Given the description of an element on the screen output the (x, y) to click on. 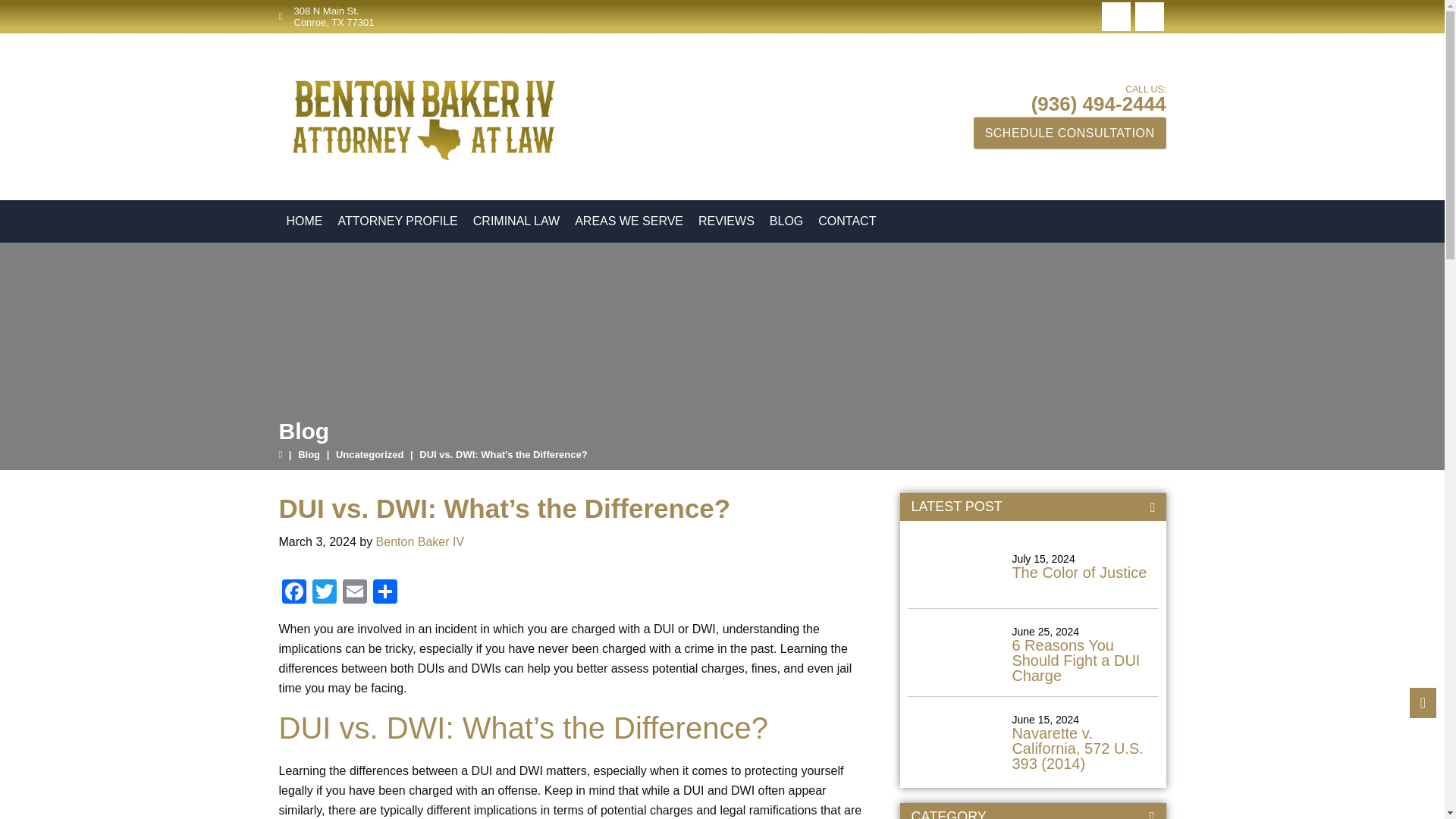
ATTORNEY PROFILE (397, 221)
Email (354, 593)
Benton Baker IV Attorney At Law (419, 116)
SCHEDULE CONSULTATION (1070, 132)
CRIMINAL LAW (516, 221)
HOME (304, 221)
Google My Business (1114, 16)
Facebook (1148, 16)
Facebook (293, 593)
